Given the description of an element on the screen output the (x, y) to click on. 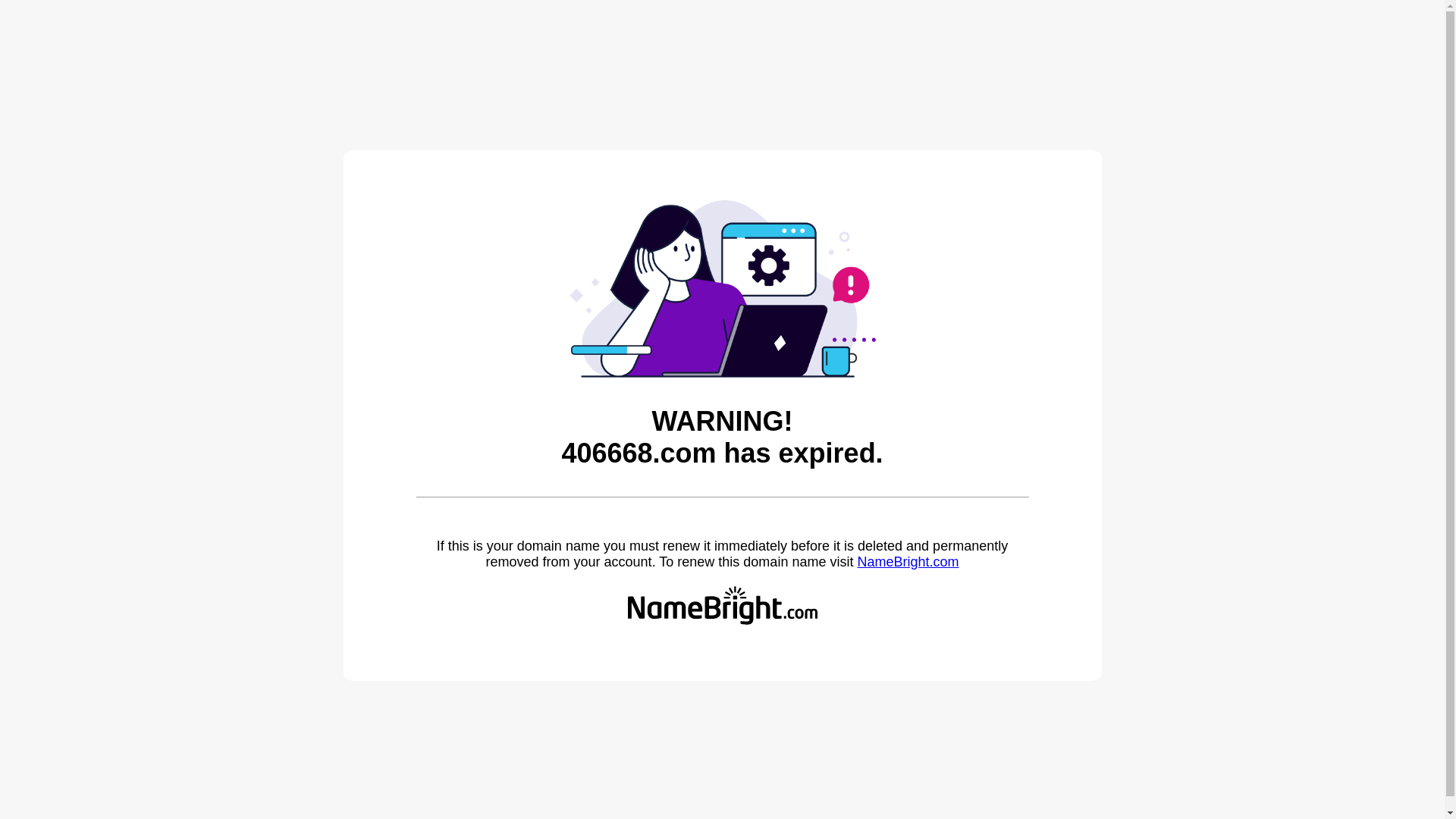
NameBright.com Element type: text (907, 561)
